Given the description of an element on the screen output the (x, y) to click on. 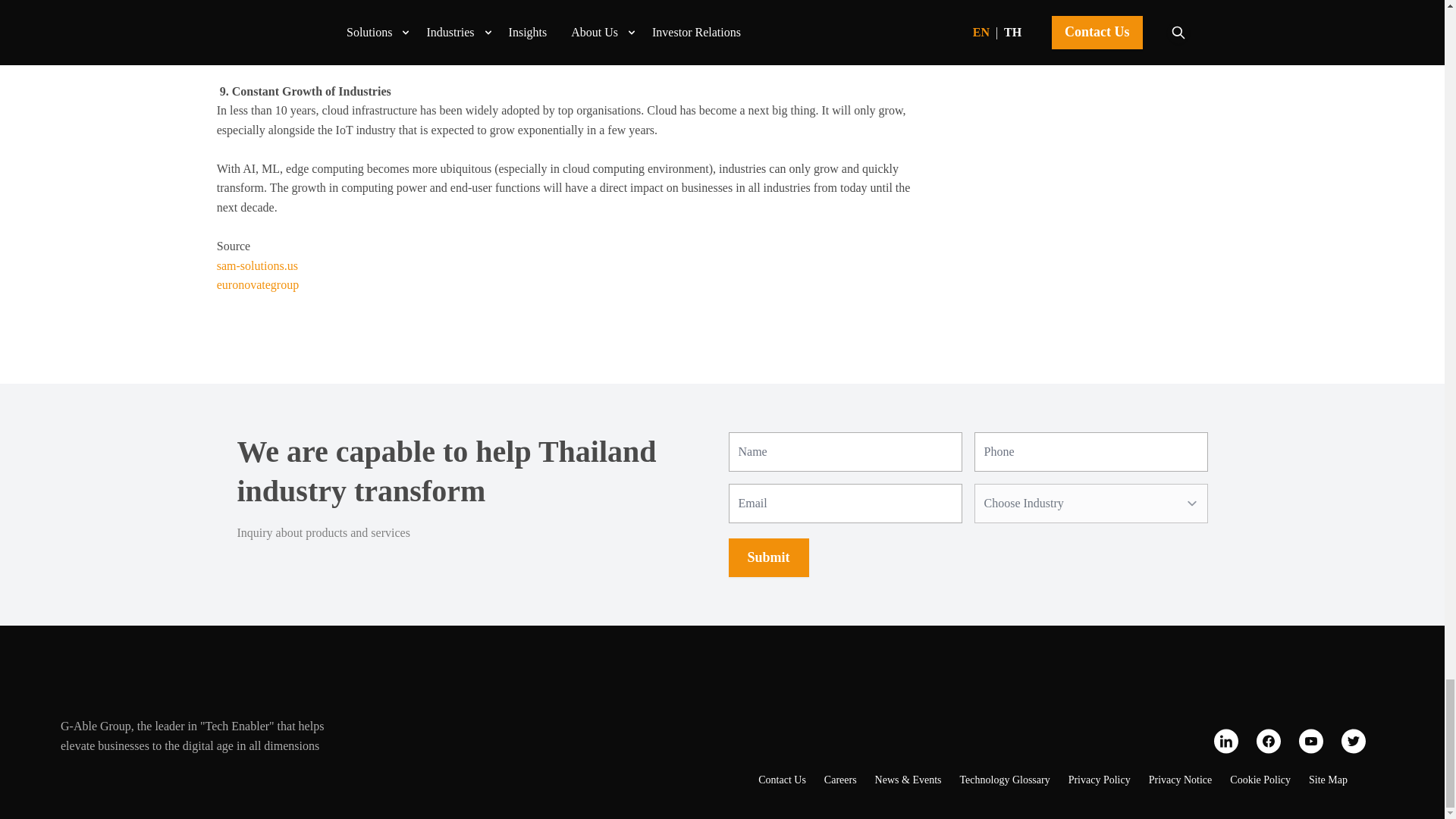
Youtube (1310, 740)
Technology Glossary (1004, 779)
Submit (768, 557)
euronovategroup (257, 284)
Twitter (1352, 740)
Privacy Policy (1099, 779)
Facebook (1268, 740)
Site Map (1328, 779)
Careers (840, 779)
Contact Us (782, 779)
sam-solutions.us (257, 265)
Privacy Notice (1180, 779)
Cookie Policy (1260, 779)
LinkedIn (1226, 740)
